Given the description of an element on the screen output the (x, y) to click on. 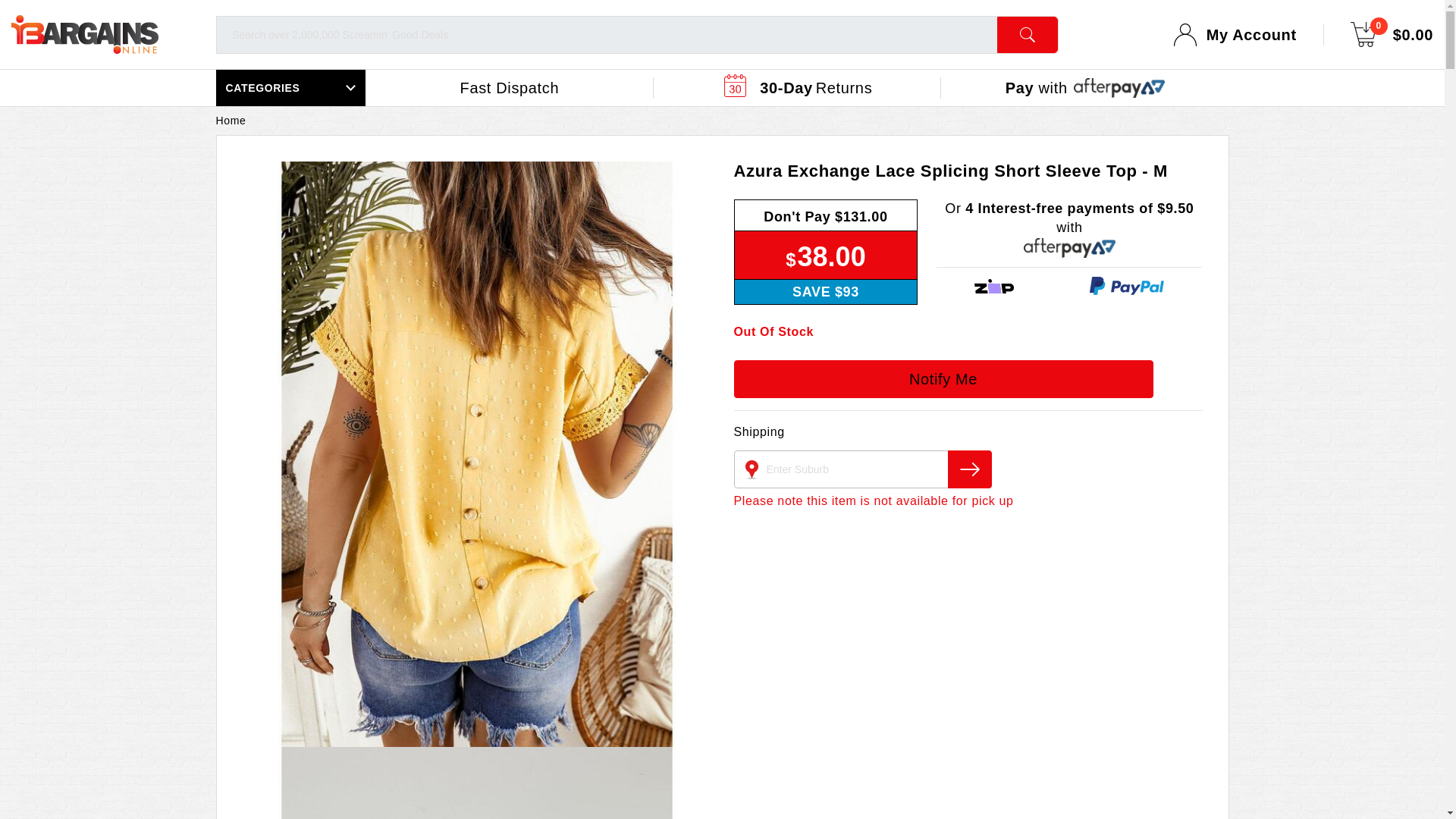
Search (1027, 34)
Bargains Online (84, 34)
My Account (1252, 34)
Search (1027, 34)
My Account (1252, 34)
